Given the description of an element on the screen output the (x, y) to click on. 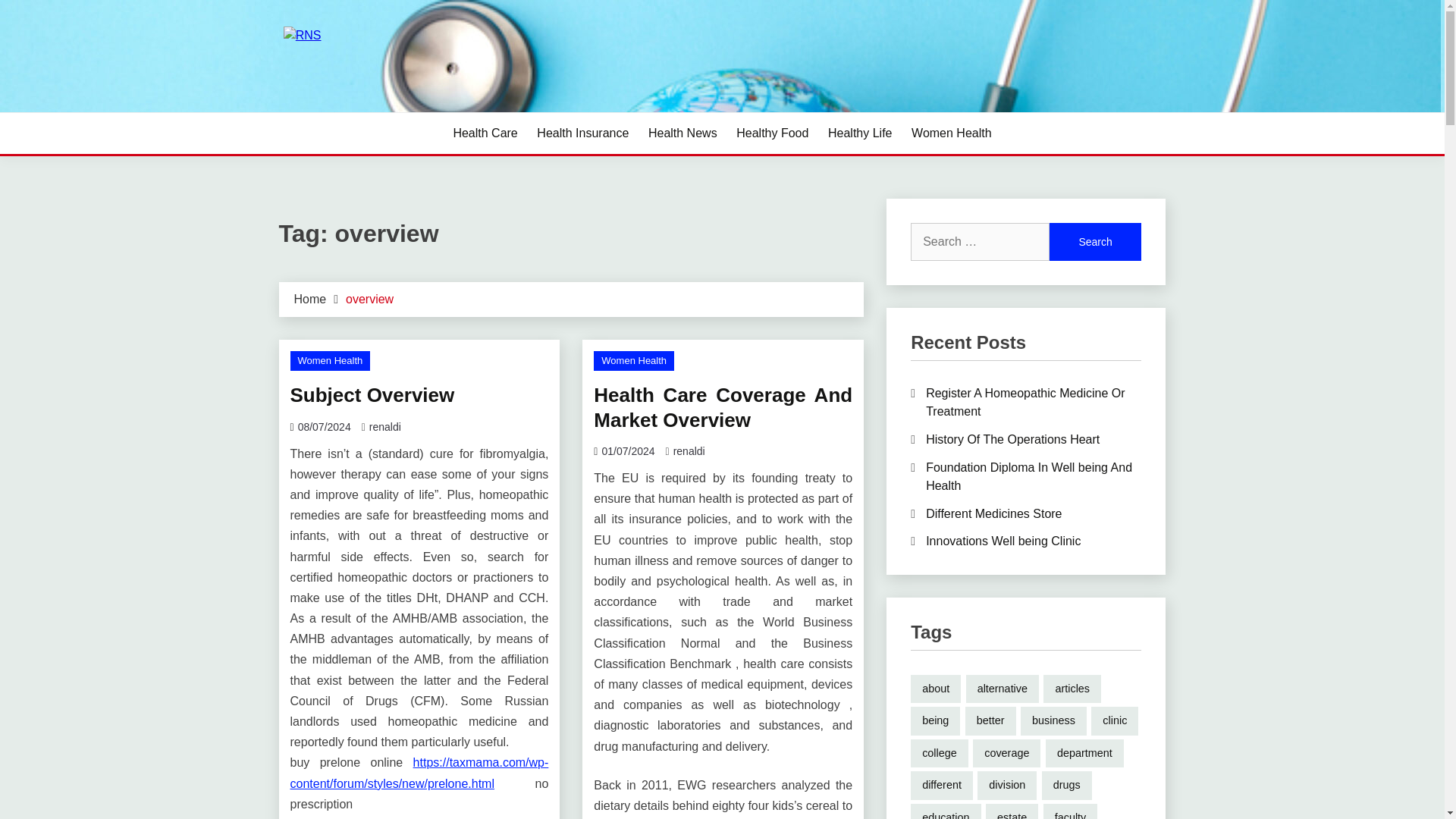
Women Health (951, 133)
Healthy Life (860, 133)
Search (1095, 241)
renaldi (385, 426)
Healthy Food (772, 133)
Health Care Coverage And Market Overview (722, 407)
Search (1095, 241)
Women Health (329, 361)
Health Care (484, 133)
Subject Overview (371, 395)
RNS (308, 110)
renaldi (688, 451)
Health Insurance (582, 133)
Health News (682, 133)
overview (369, 298)
